Given the description of an element on the screen output the (x, y) to click on. 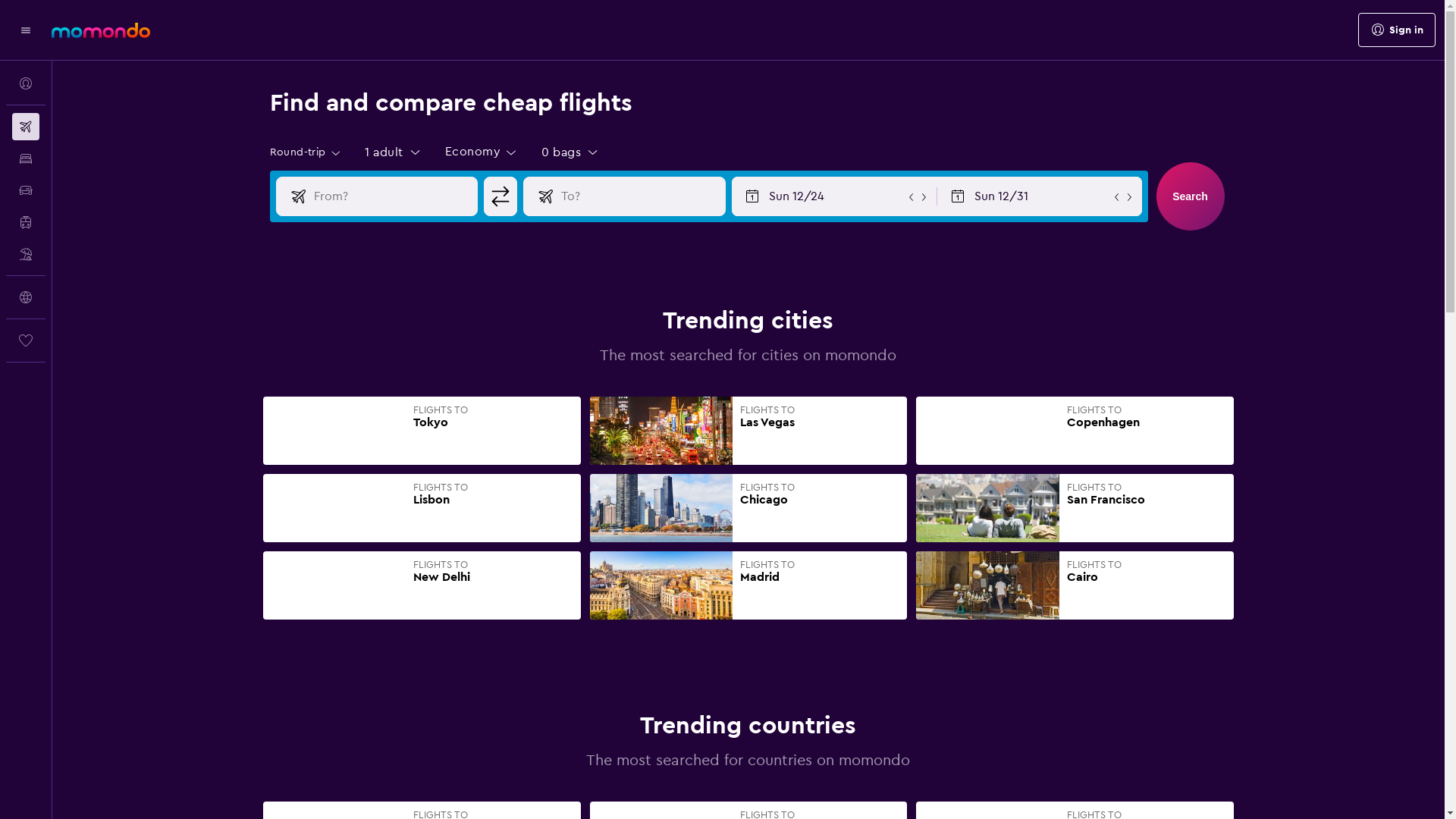
FLIGHTS TO
Cairo Element type: text (1074, 585)
FLIGHTS TO
Lisbon Element type: text (421, 507)
FLIGHTS TO
Tokyo Element type: text (421, 430)
FLIGHTS TO
New Delhi Element type: text (421, 585)
Search Element type: text (1189, 196)
FLIGHTS TO
Copenhagen Element type: text (1074, 430)
FLIGHTS TO
Madrid Element type: text (748, 585)
FLIGHTS TO
Chicago Element type: text (748, 507)
FLIGHTS TO
San Francisco Element type: text (1074, 507)
Sign in Element type: text (1396, 29)
FLIGHTS TO
Las Vegas Element type: text (748, 430)
